Given the description of an element on the screen output the (x, y) to click on. 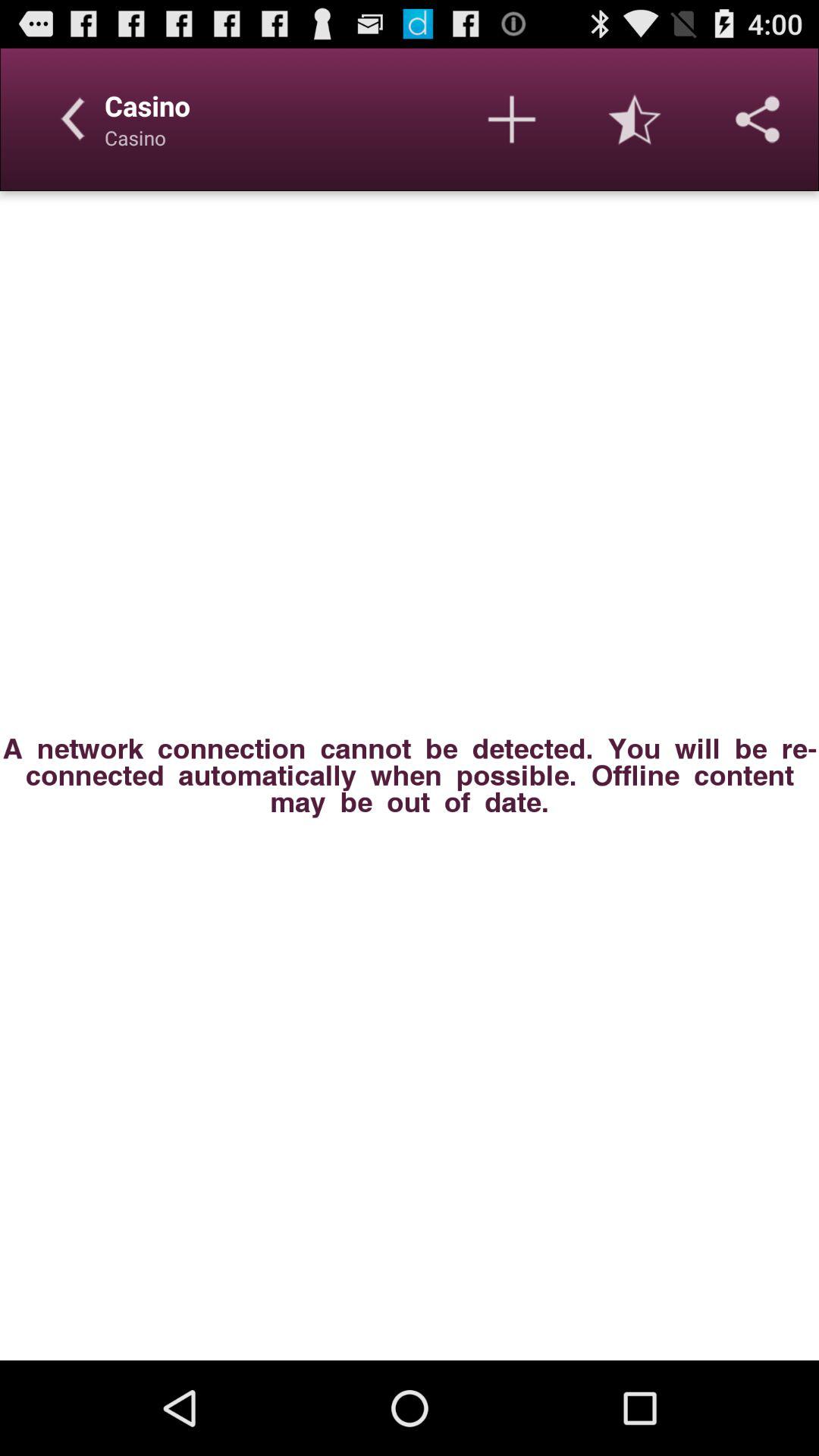
add a casino (511, 119)
